Given the description of an element on the screen output the (x, y) to click on. 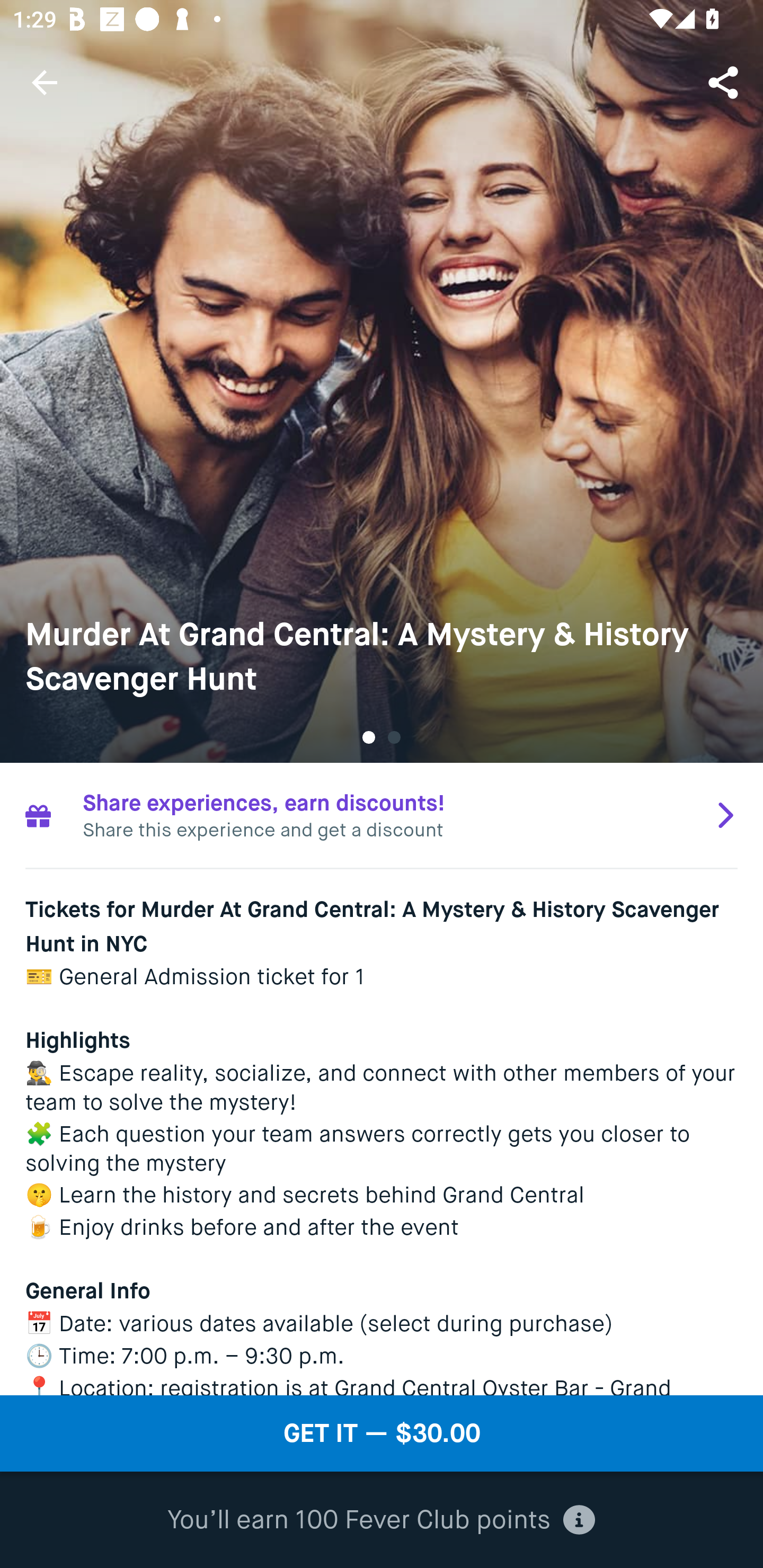
Navigate up (44, 82)
Share (724, 81)
GET IT — $30.00 (381, 1433)
You’ll earn 100 Fever Club points (381, 1519)
